Given the description of an element on the screen output the (x, y) to click on. 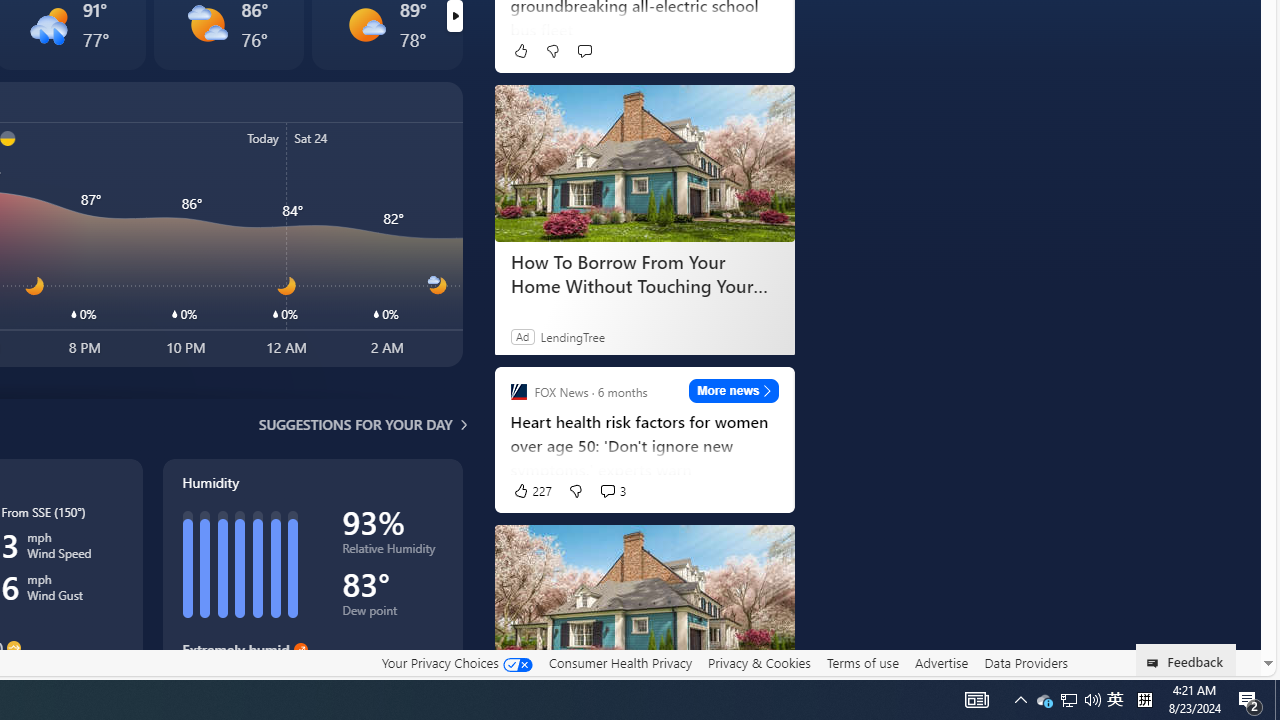
Your Privacy Choices (456, 663)
Partly sunny (206, 24)
Rain showers (49, 24)
Privacy & Cookies (759, 663)
Data Providers (1025, 663)
Data Providers (1025, 662)
Privacy & Cookies (759, 662)
Terms of use (861, 662)
LendingTree (572, 336)
More news (733, 390)
